Given the description of an element on the screen output the (x, y) to click on. 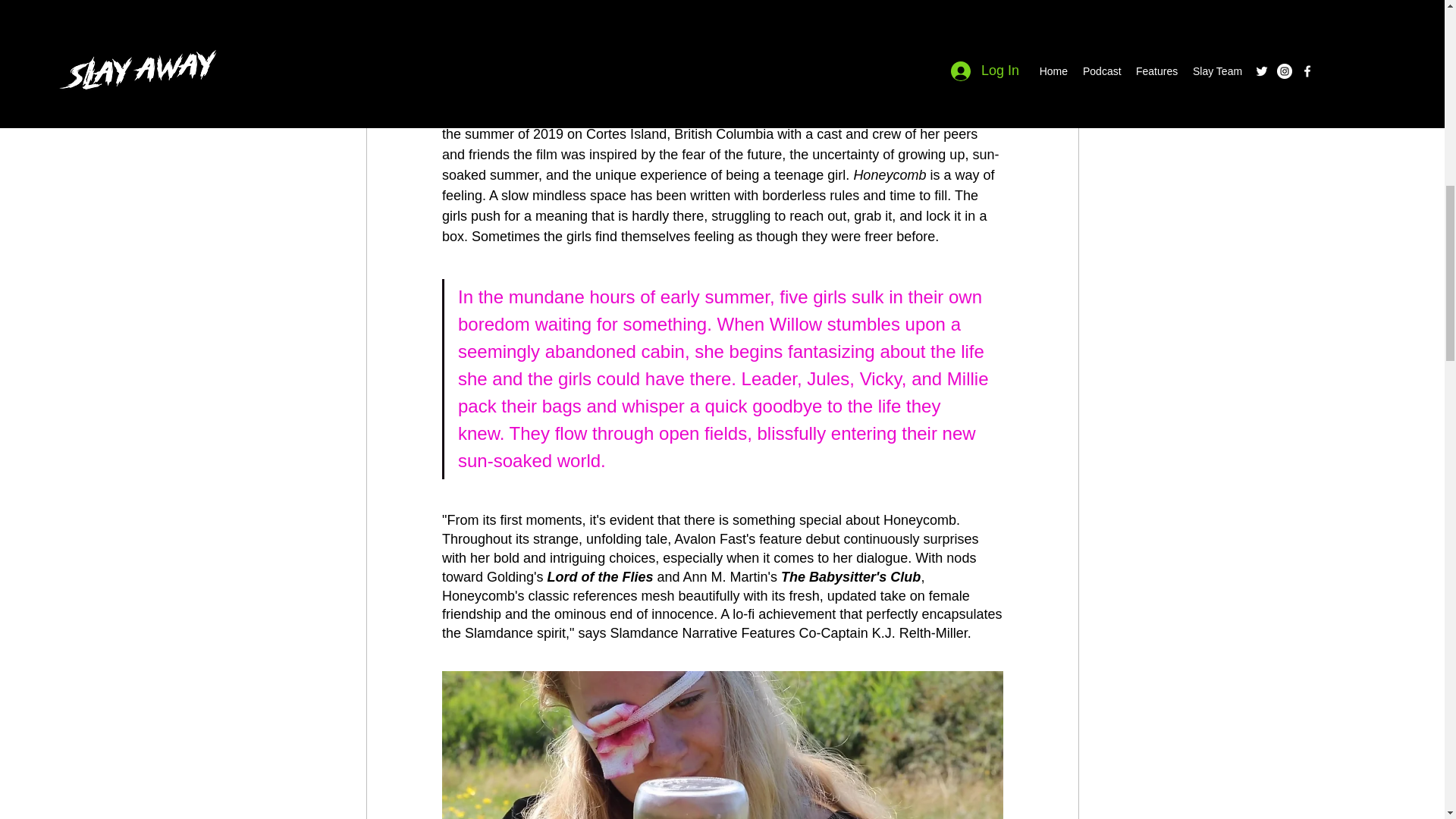
Avalon Fast (911, 113)
